Given the description of an element on the screen output the (x, y) to click on. 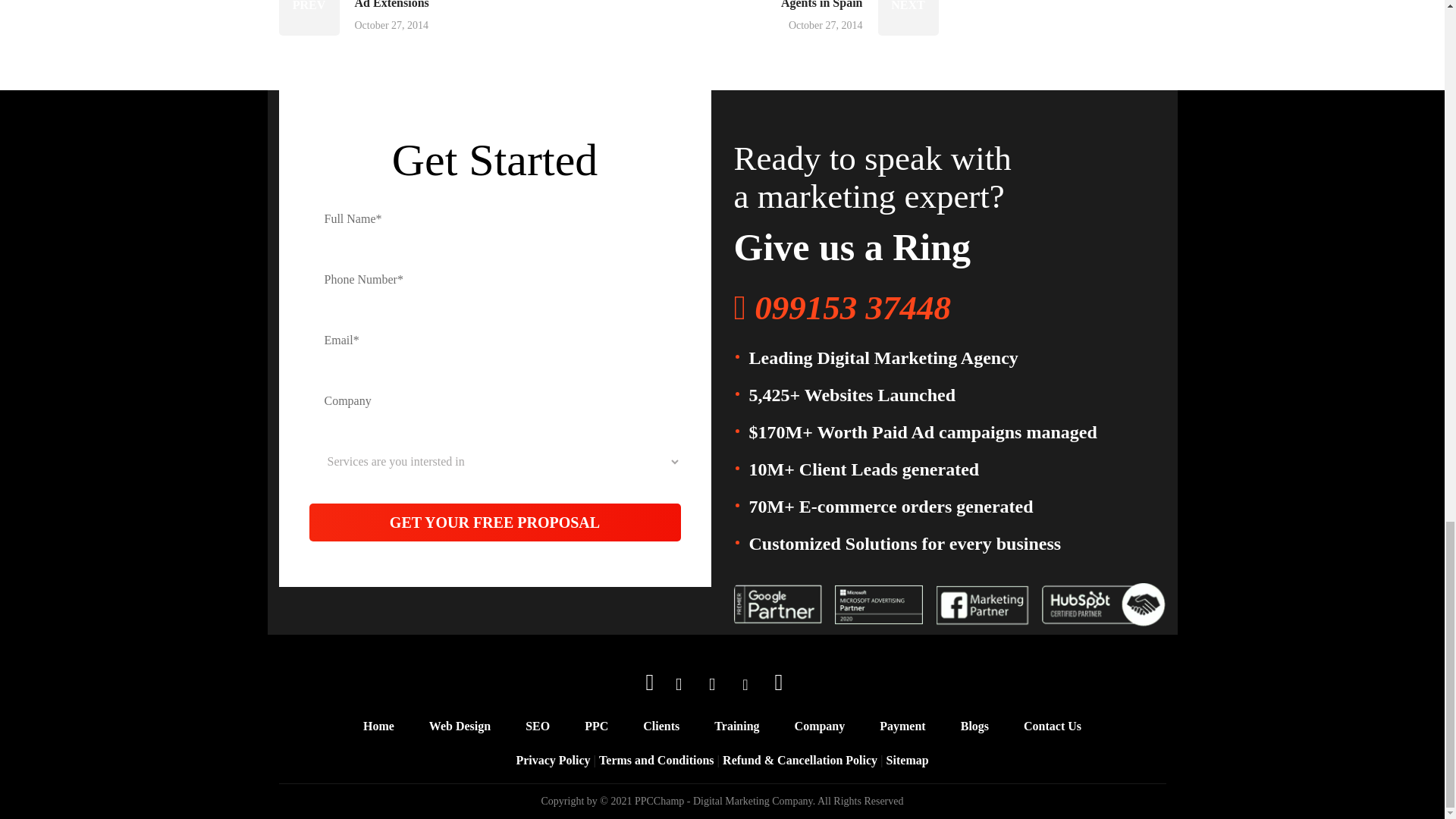
Get Your Free Proposal (494, 522)
How to Use Google AdWords Ad Extensions (396, 18)
PPC Services for Real Estate Agents in Spain (821, 18)
